Given the description of an element on the screen output the (x, y) to click on. 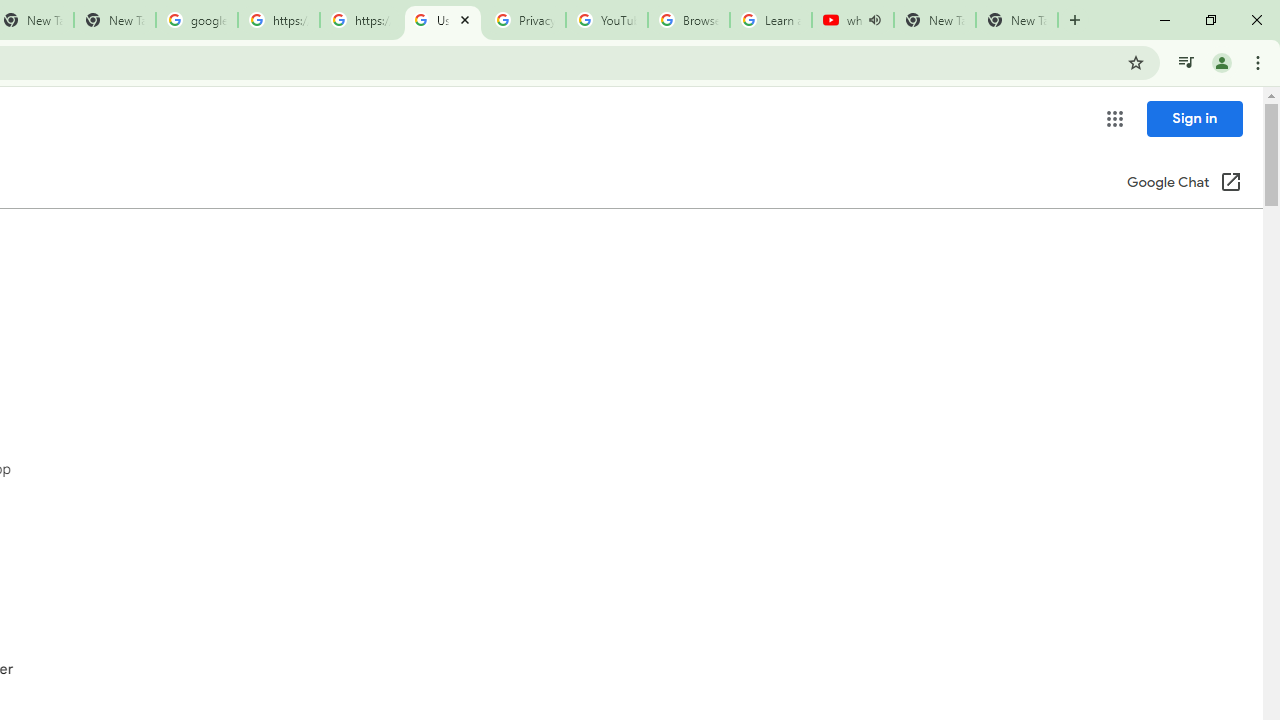
New Tab (1016, 20)
Google Chat (Open in a new window) (1184, 183)
YouTube (606, 20)
https://scholar.google.com/ (360, 20)
